Given the description of an element on the screen output the (x, y) to click on. 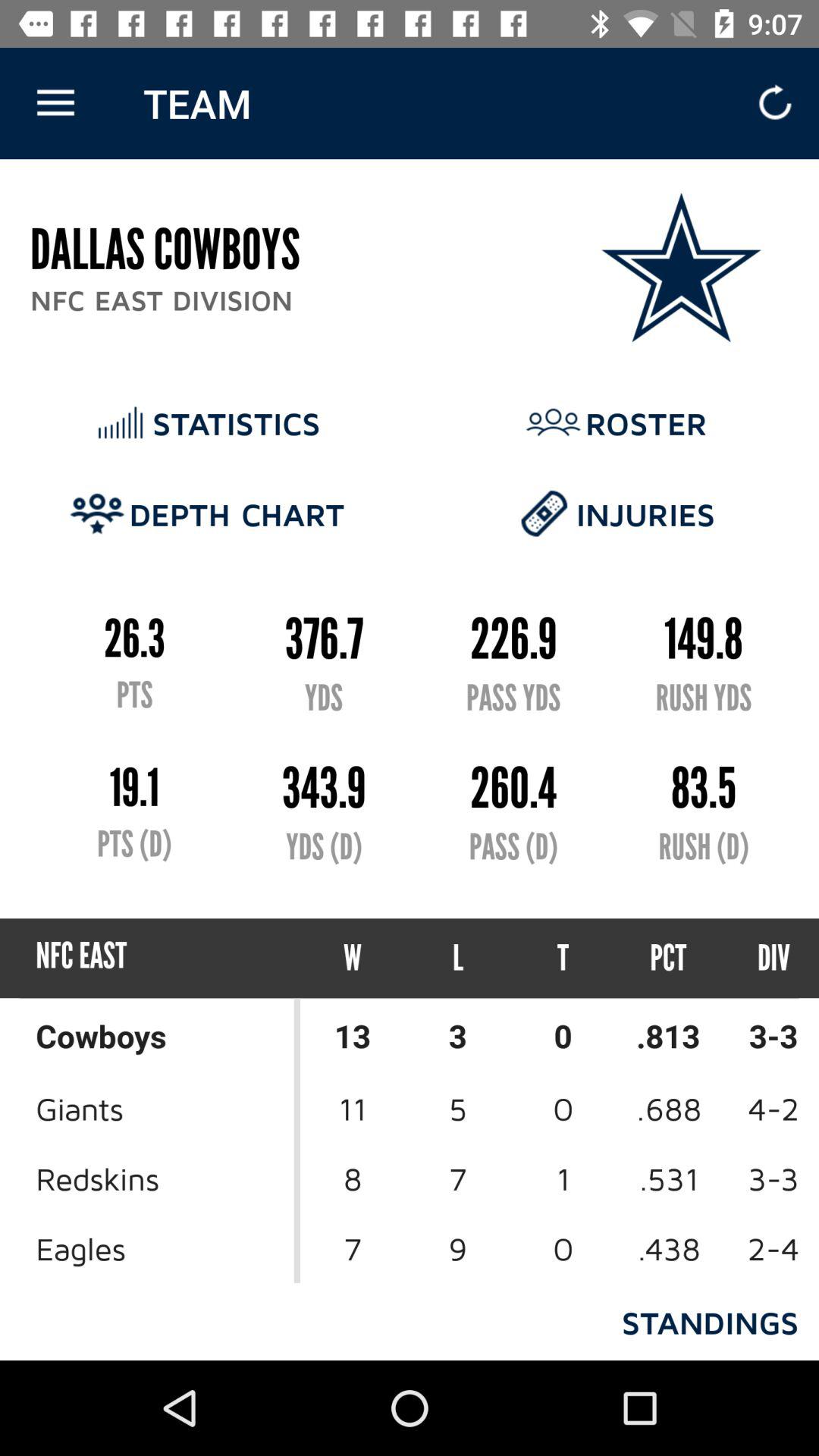
press the icon to the right of the w icon (457, 958)
